Given the description of an element on the screen output the (x, y) to click on. 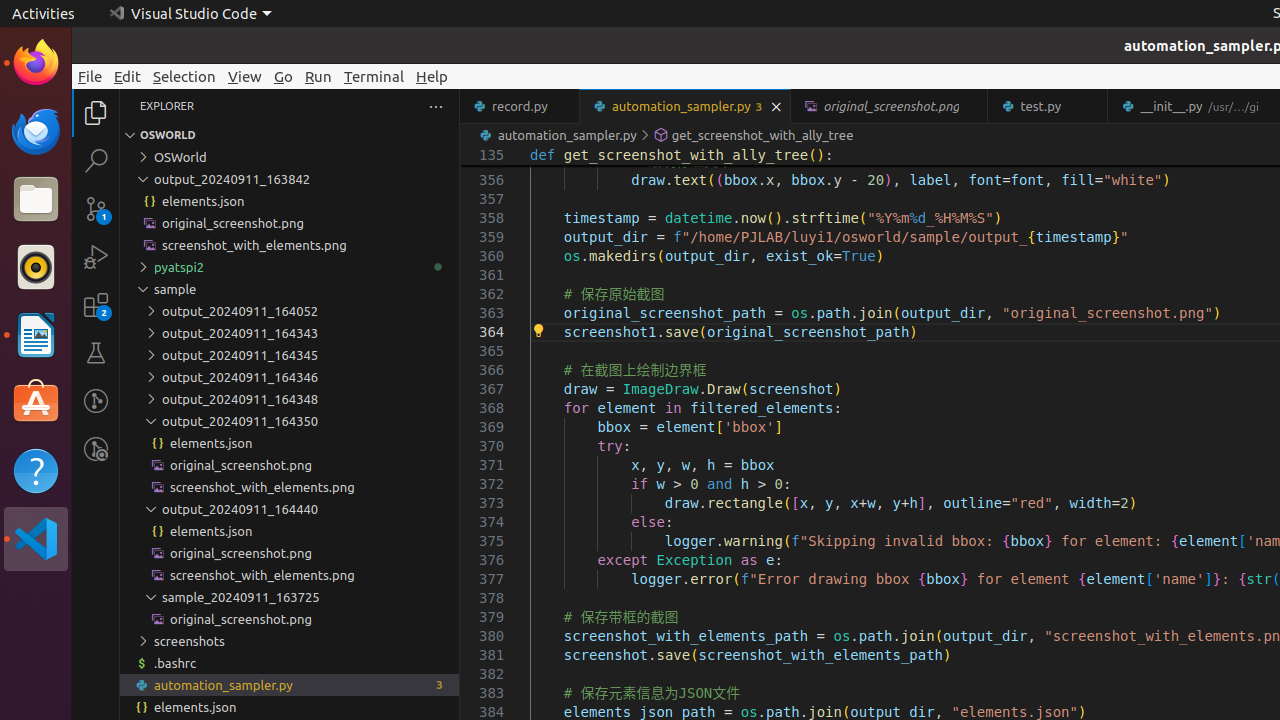
Show Code Actions (Ctrl+.) Element type: list-box (538, 331)
output_20240911_164052 Element type: tree-item (289, 311)
output_20240911_164350 Element type: tree-item (289, 421)
automation_sampler.py Element type: page-tab (686, 106)
